Given the description of an element on the screen output the (x, y) to click on. 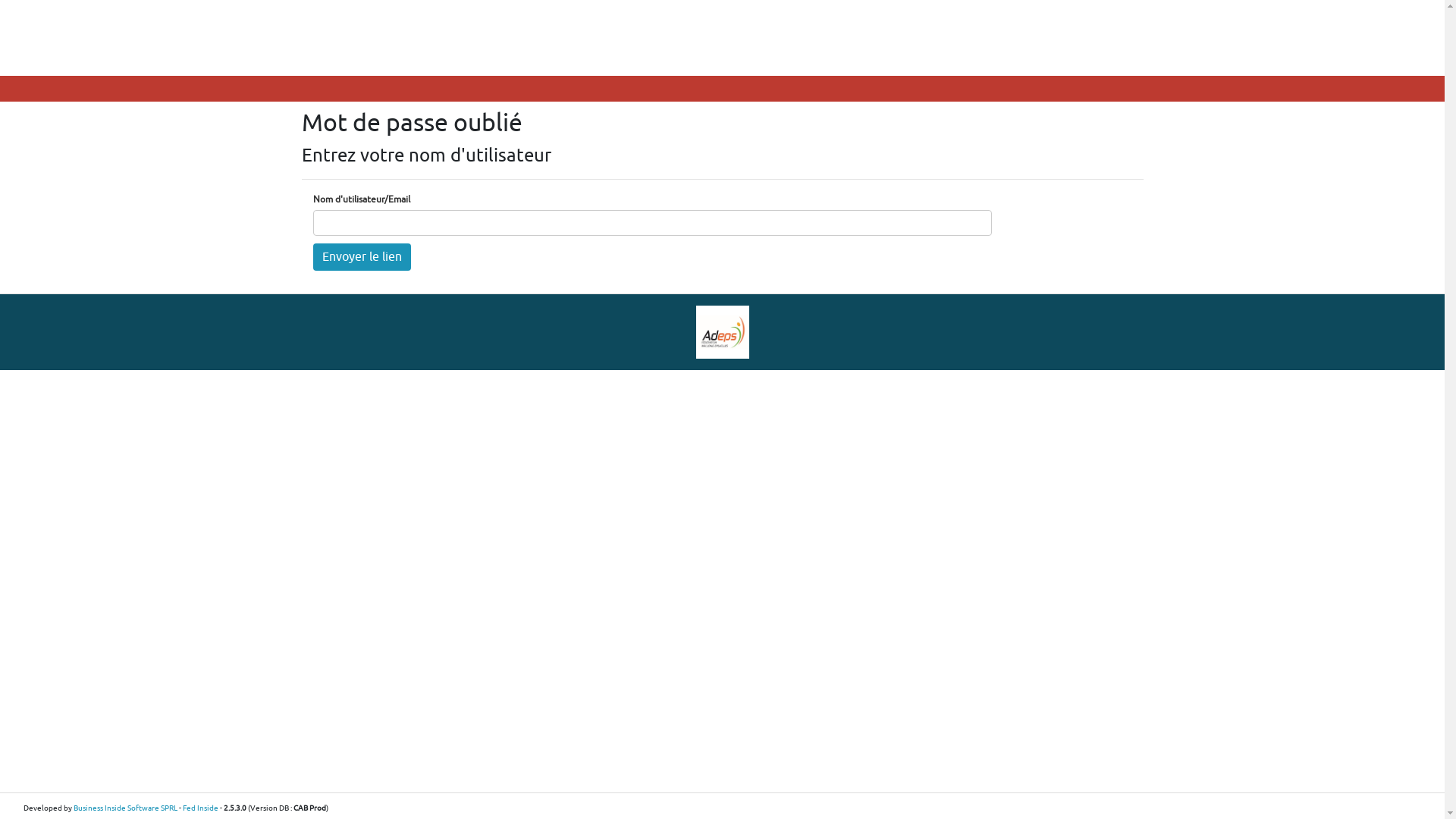
Fed Inside Element type: text (200, 807)
Envoyer le lien Element type: text (361, 256)
Business Inside Software SPRL Element type: text (125, 807)
